Given the description of an element on the screen output the (x, y) to click on. 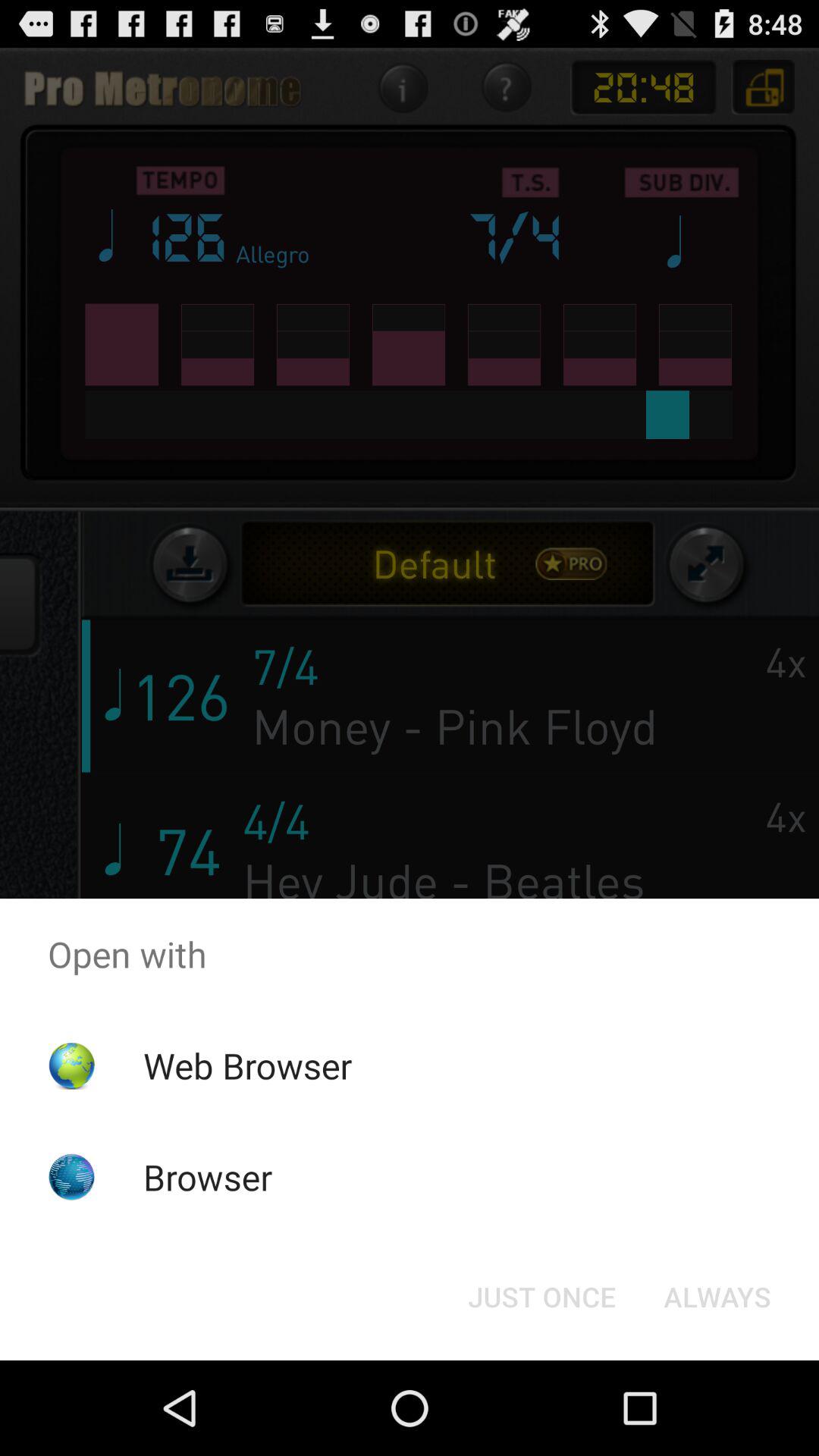
select web browser icon (247, 1065)
